Given the description of an element on the screen output the (x, y) to click on. 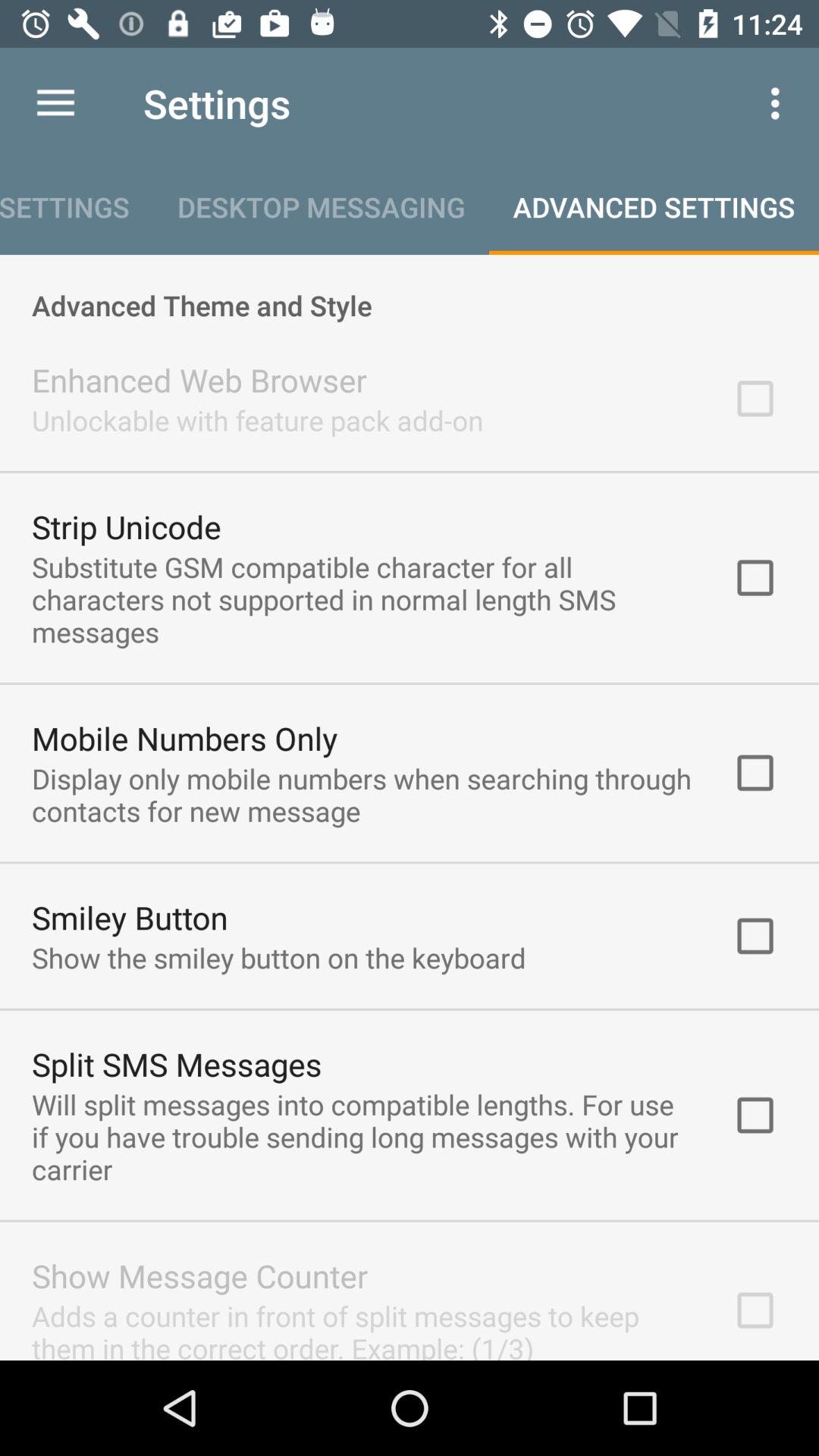
choose the icon above substitute gsm compatible item (126, 526)
